Given the description of an element on the screen output the (x, y) to click on. 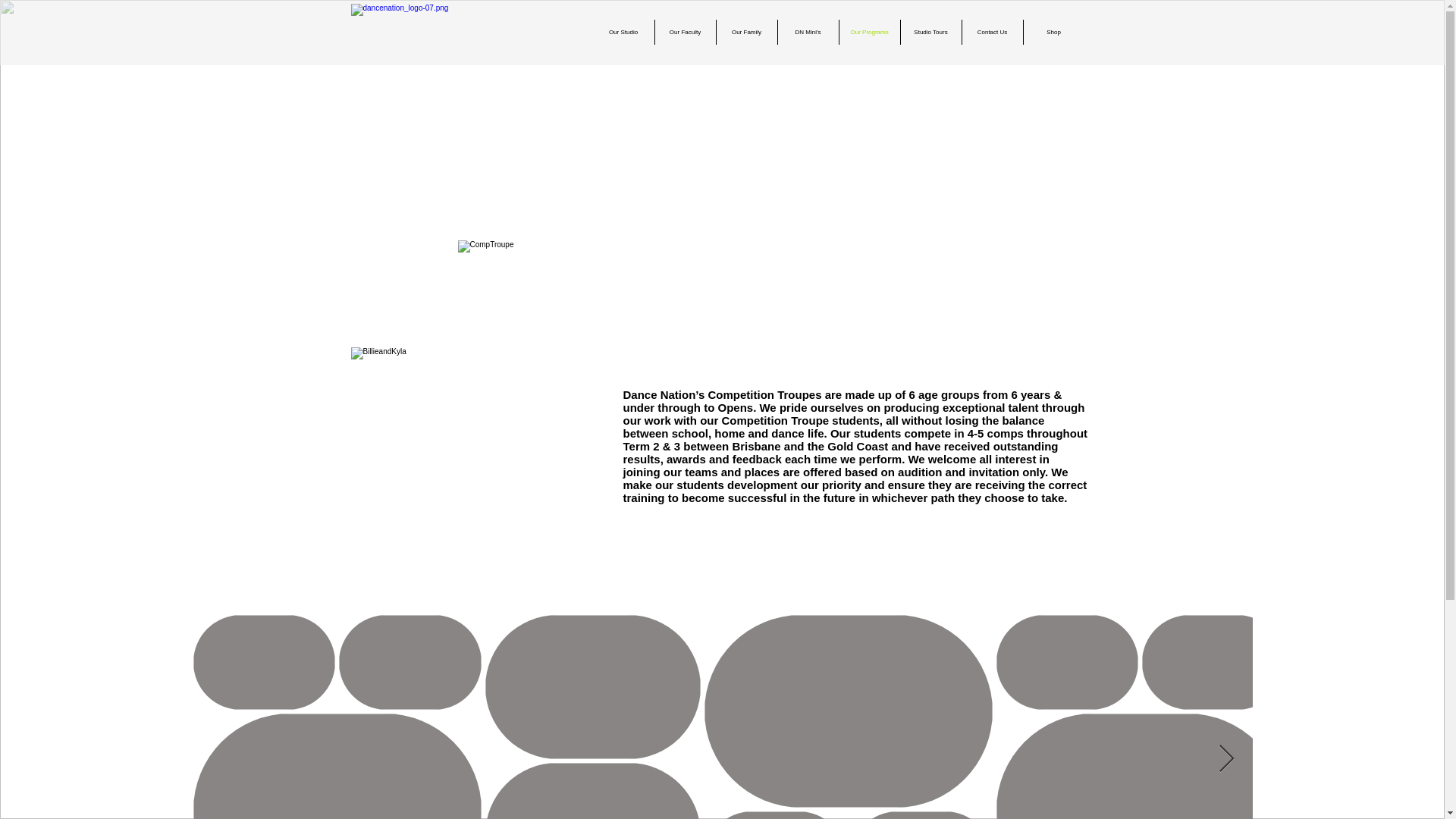
Studio Tours (930, 32)
Our Programs (868, 32)
Shop (1053, 32)
Contact Us (991, 32)
Our Studio (622, 32)
Our Family (746, 32)
Our Faculty (685, 32)
DN Mini's (807, 32)
